Given the description of an element on the screen output the (x, y) to click on. 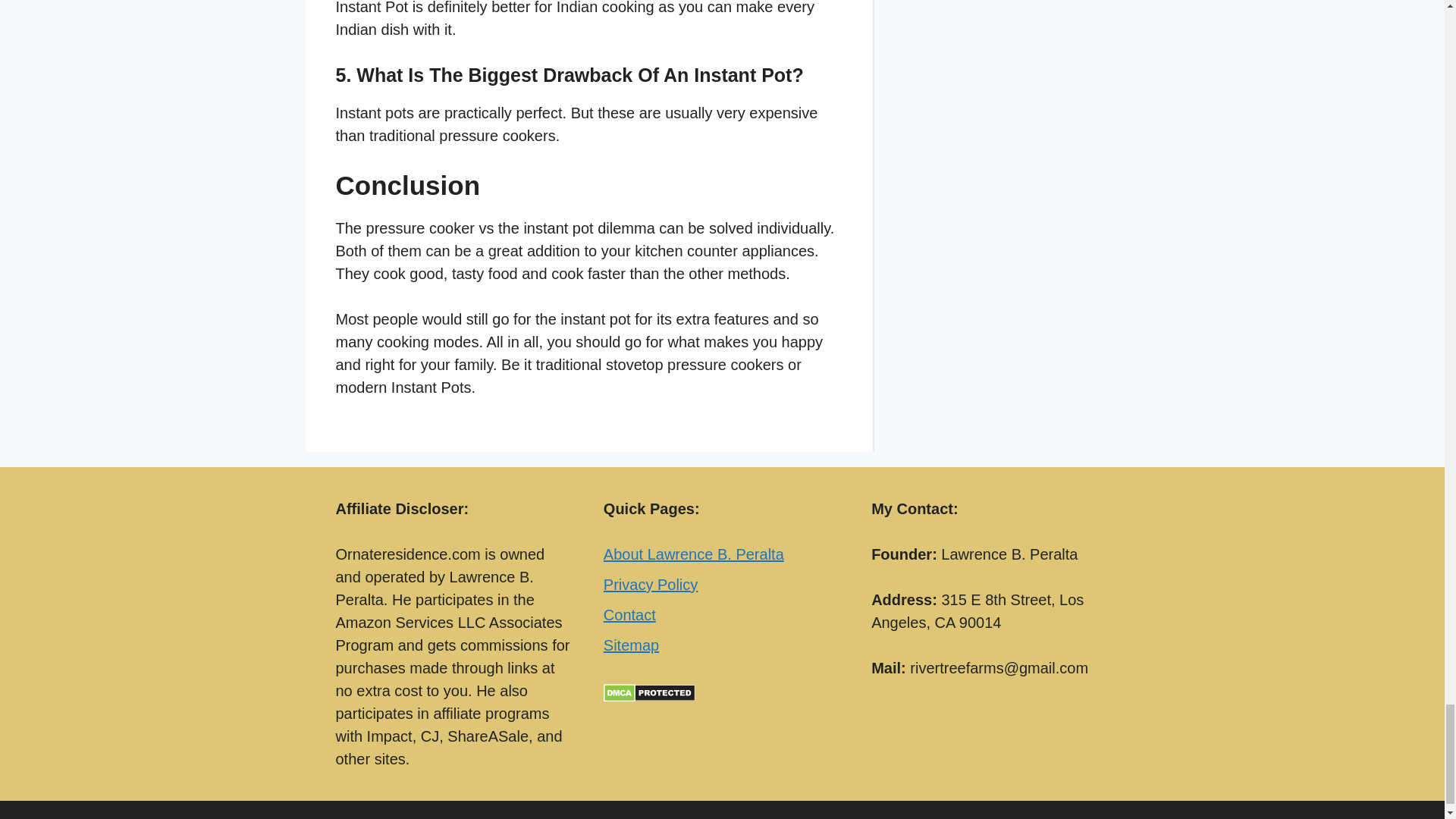
Sitemap (631, 645)
Contact (630, 614)
Privacy Policy (650, 584)
About Lawrence B. Peralta (694, 554)
